Given the description of an element on the screen output the (x, y) to click on. 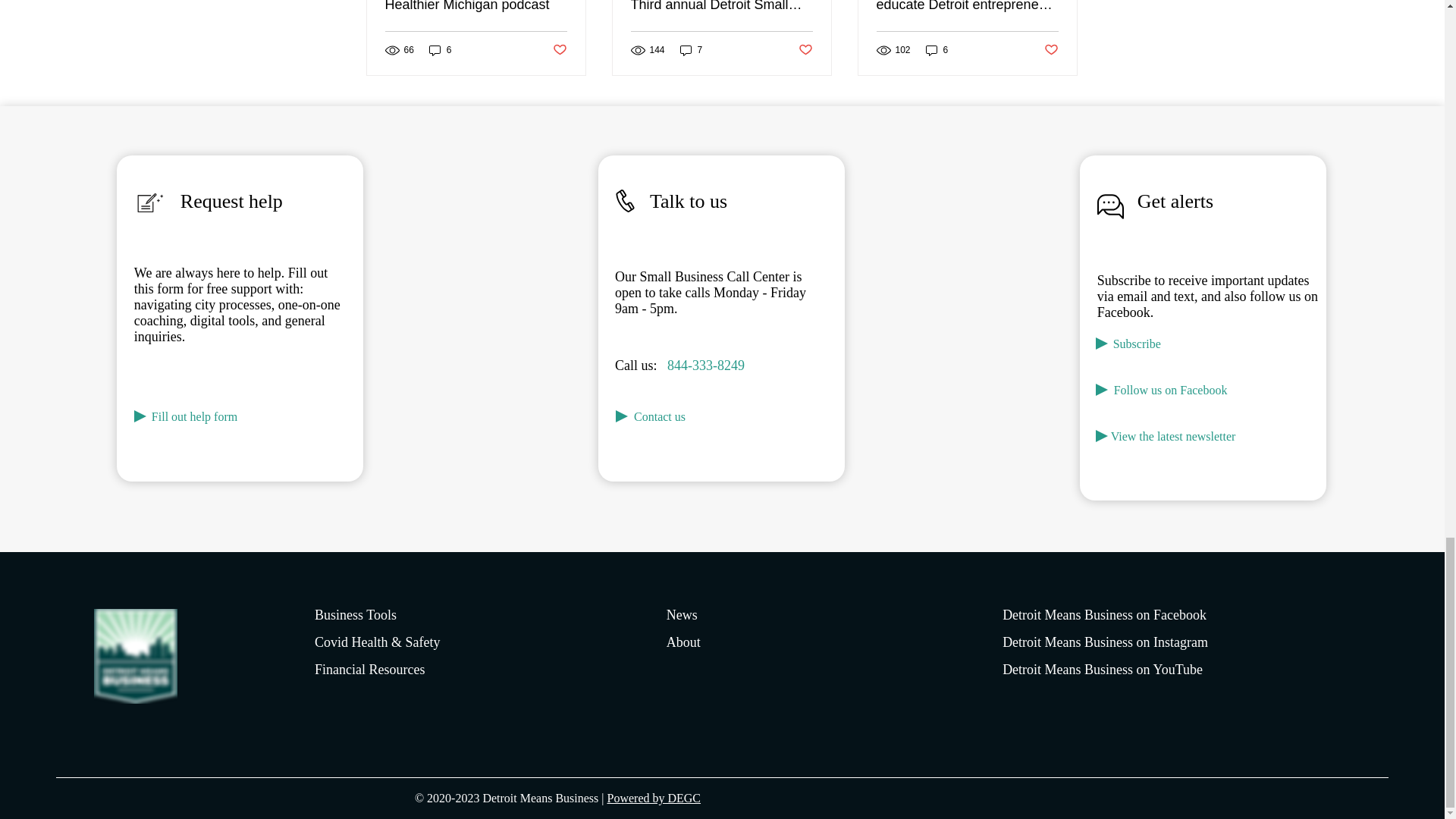
6 (440, 50)
Post not marked as liked (558, 50)
7 (691, 50)
DMB President featured on Healthier Michigan podcast (476, 6)
